Given the description of an element on the screen output the (x, y) to click on. 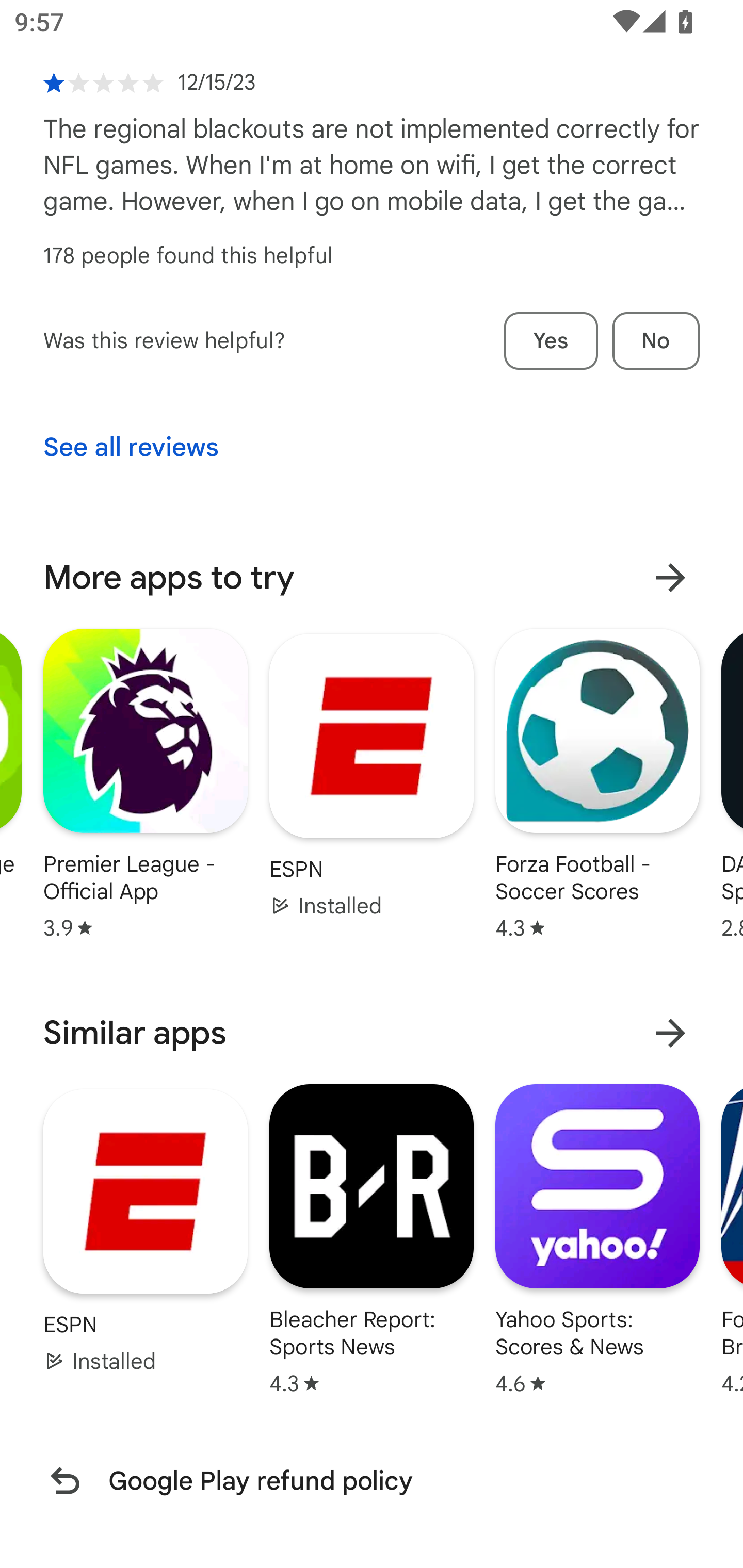
Yes (550, 340)
No (655, 340)
See all reviews (130, 447)
More apps to try More results for More apps to try (371, 577)
More results for More apps to try (670, 577)
Premier League - Official App
Star rating: 3.9
 (145, 783)
ESPN
Installed
 (371, 774)
Forza Football - Soccer Scores
Star rating: 4.3
 (597, 783)
Similar apps More results for Similar apps (371, 1033)
More results for Similar apps (670, 1033)
ESPN
Installed
 (145, 1230)
Bleacher Report: Sports News
Star rating: 4.3
 (371, 1238)
Yahoo Sports: Scores & News
Star rating: 4.6
 (597, 1238)
Google Play refund policy (371, 1480)
